Given the description of an element on the screen output the (x, y) to click on. 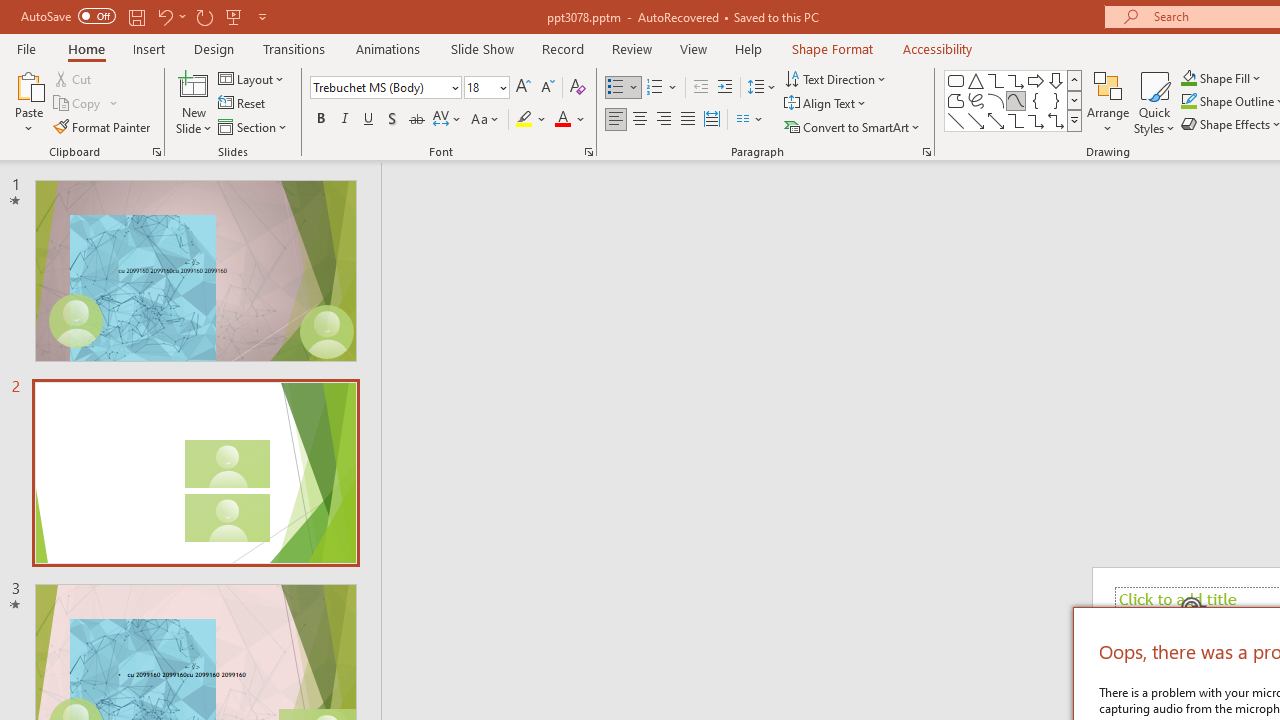
Shape Outline Green, Accent 1 (1188, 101)
